Given the description of an element on the screen output the (x, y) to click on. 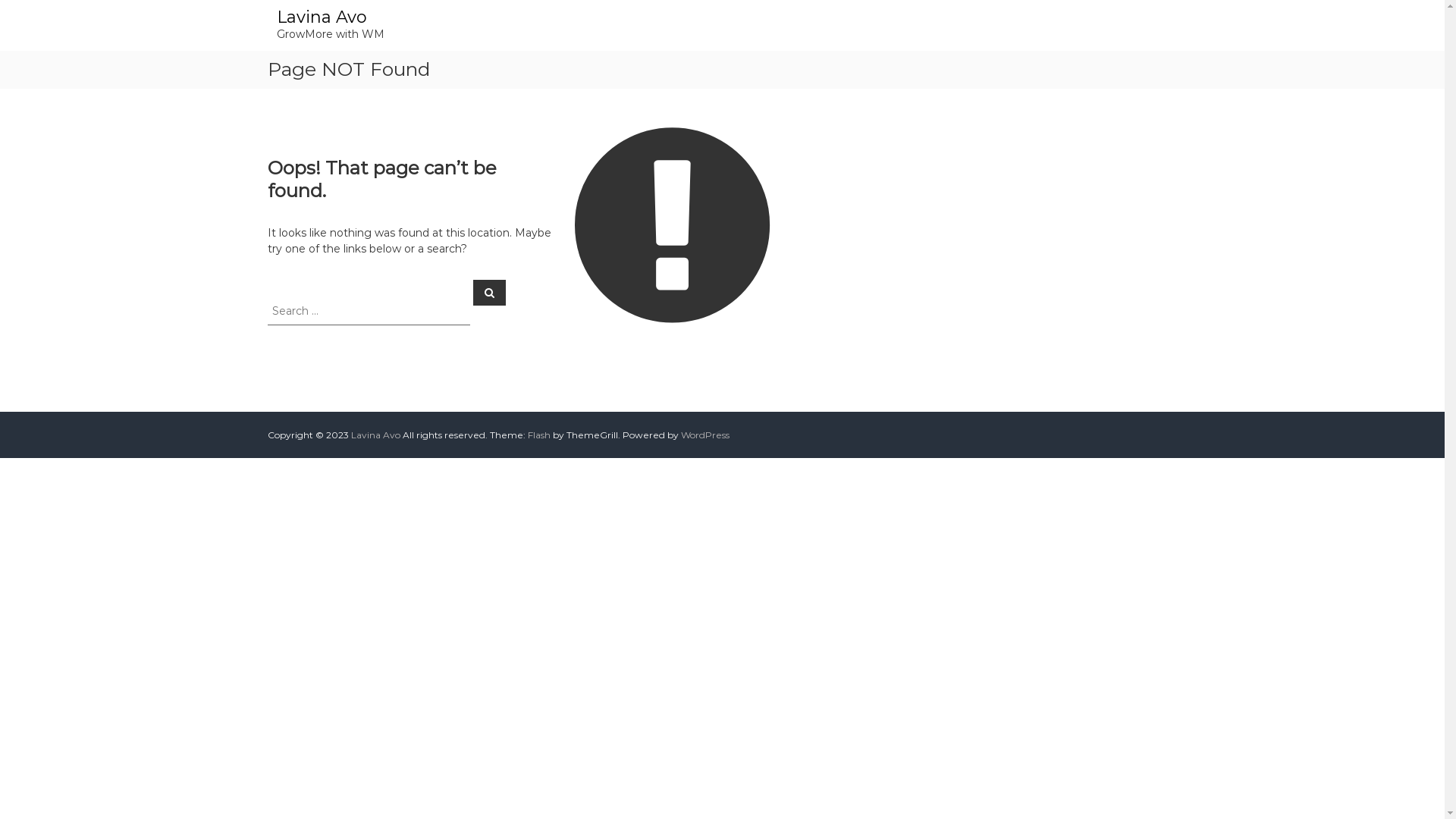
Search Element type: text (489, 291)
Lavina Avo Element type: text (374, 434)
Flash Element type: text (538, 434)
WordPress Element type: text (704, 434)
Lavina Avo Element type: text (321, 16)
